Given the description of an element on the screen output the (x, y) to click on. 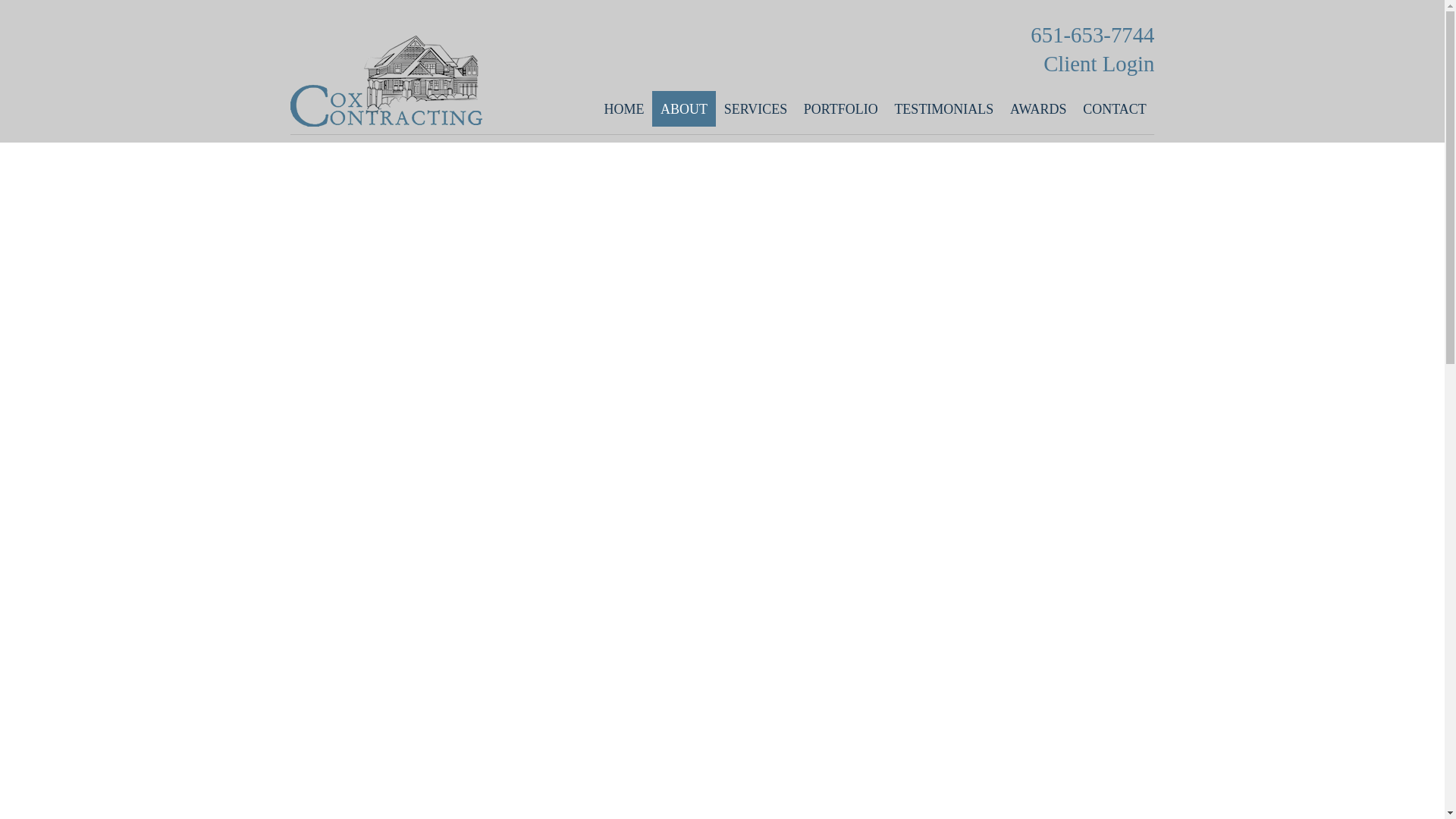
Awards (1037, 108)
Services (755, 108)
TESTIMONIALS (944, 108)
PORTFOLIO (840, 108)
Testimonials (944, 108)
About (684, 108)
Portfolio (840, 108)
Client Login (833, 63)
651-653-7744 (833, 34)
Home (623, 108)
Contact (1114, 108)
AWARDS (1037, 108)
SERVICES (755, 108)
CONTACT (1114, 108)
HOME (623, 108)
